Given the description of an element on the screen output the (x, y) to click on. 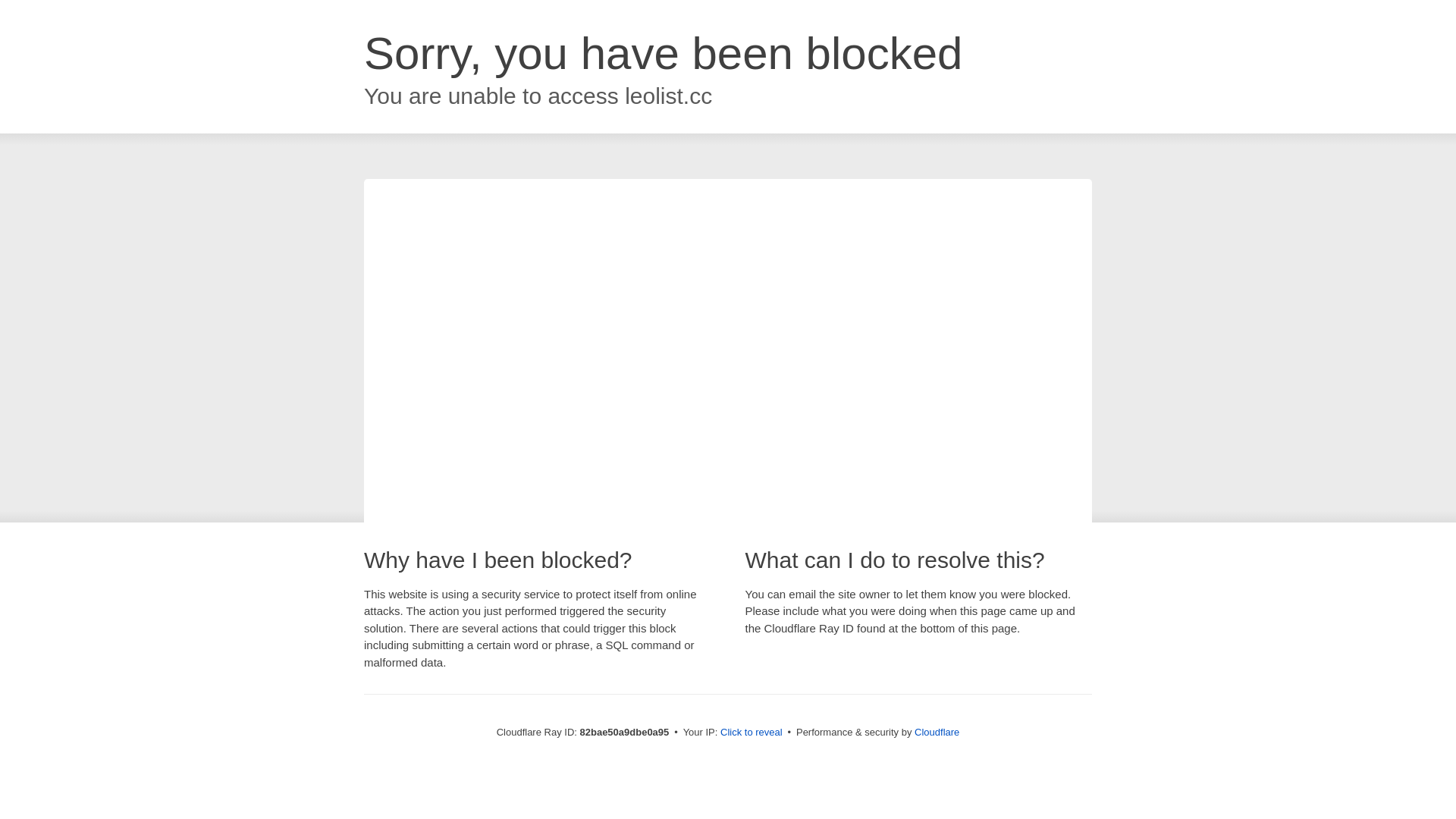
Click to reveal Element type: text (751, 732)
Cloudflare Element type: text (936, 731)
